Given the description of an element on the screen output the (x, y) to click on. 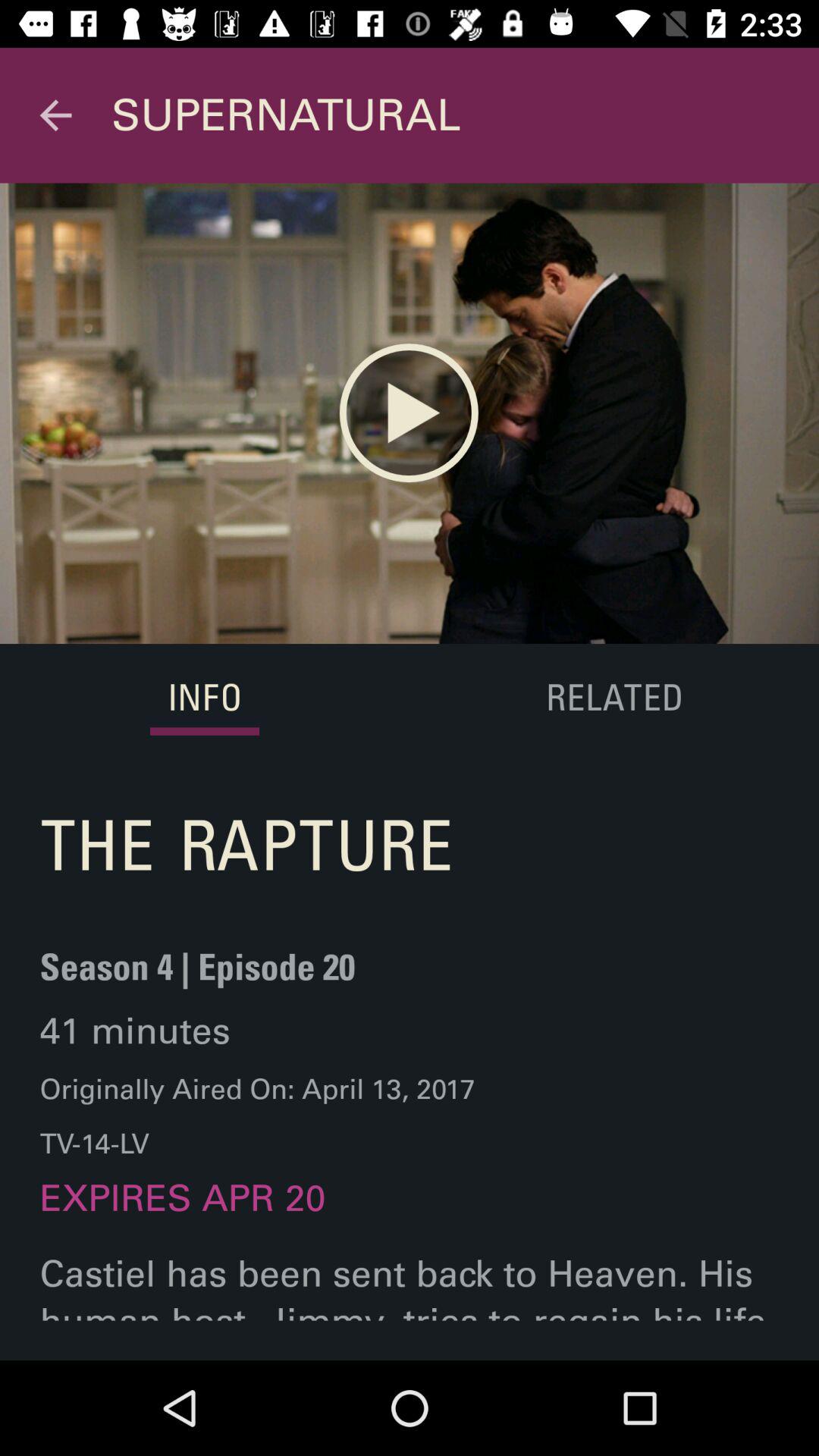
choose item below originally aired on icon (182, 1213)
